Given the description of an element on the screen output the (x, y) to click on. 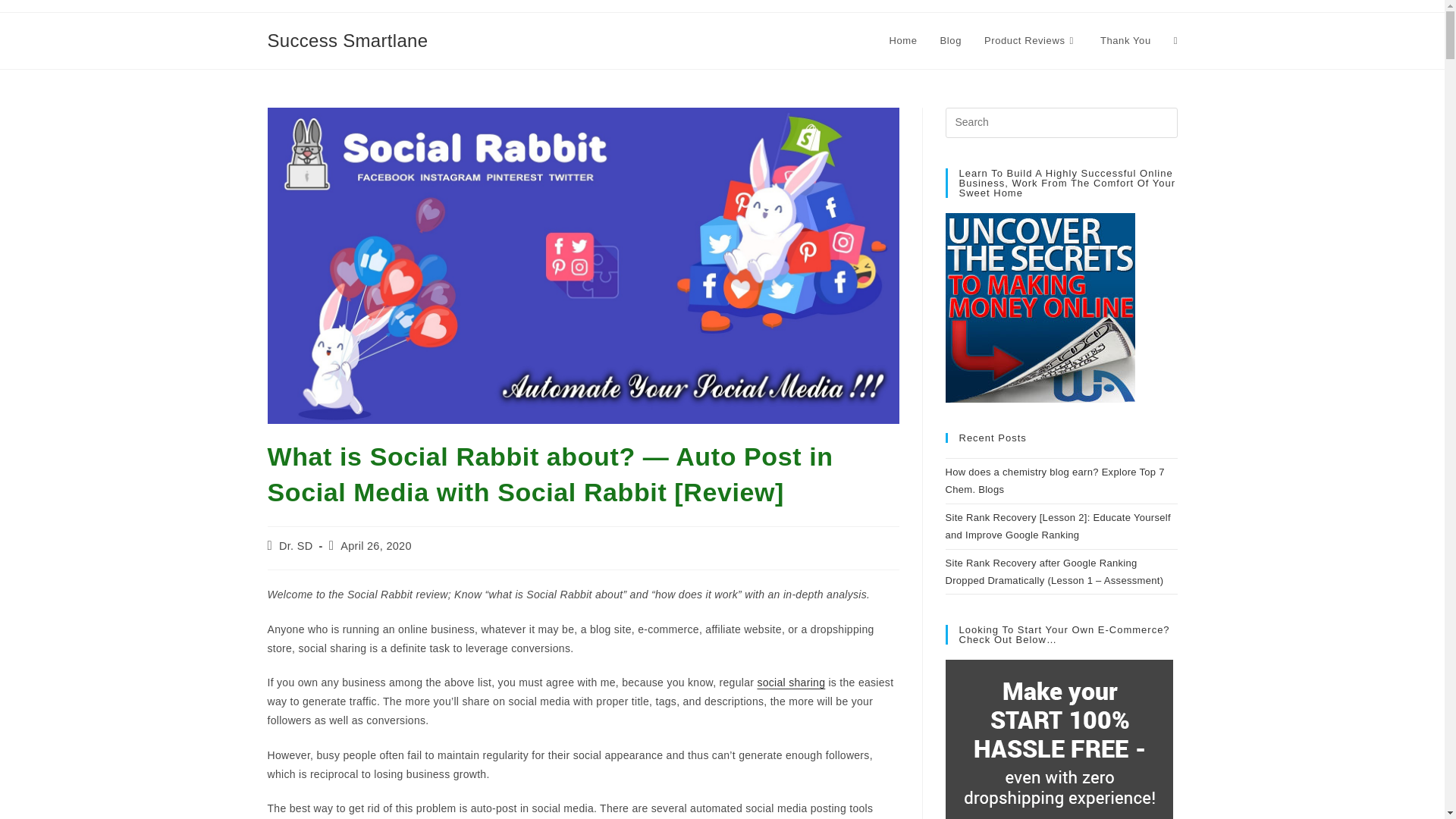
Home (902, 40)
Thank You (1125, 40)
Posts by Dr. SD (296, 545)
Product Reviews (1030, 40)
Success Smartlane (347, 40)
